Given the description of an element on the screen output the (x, y) to click on. 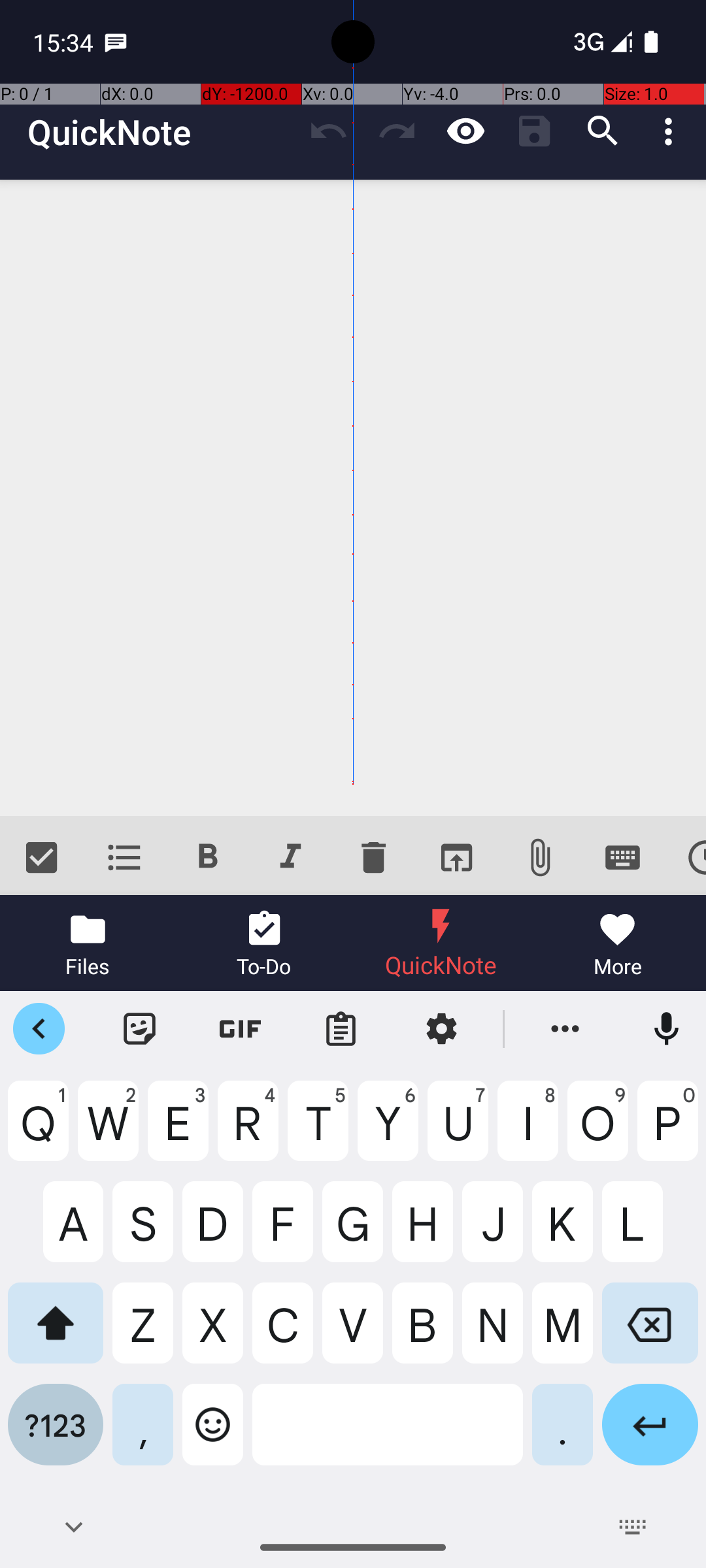
SMS Messenger notification: Martin Chen Element type: android.widget.ImageView (115, 41)
